Given the description of an element on the screen output the (x, y) to click on. 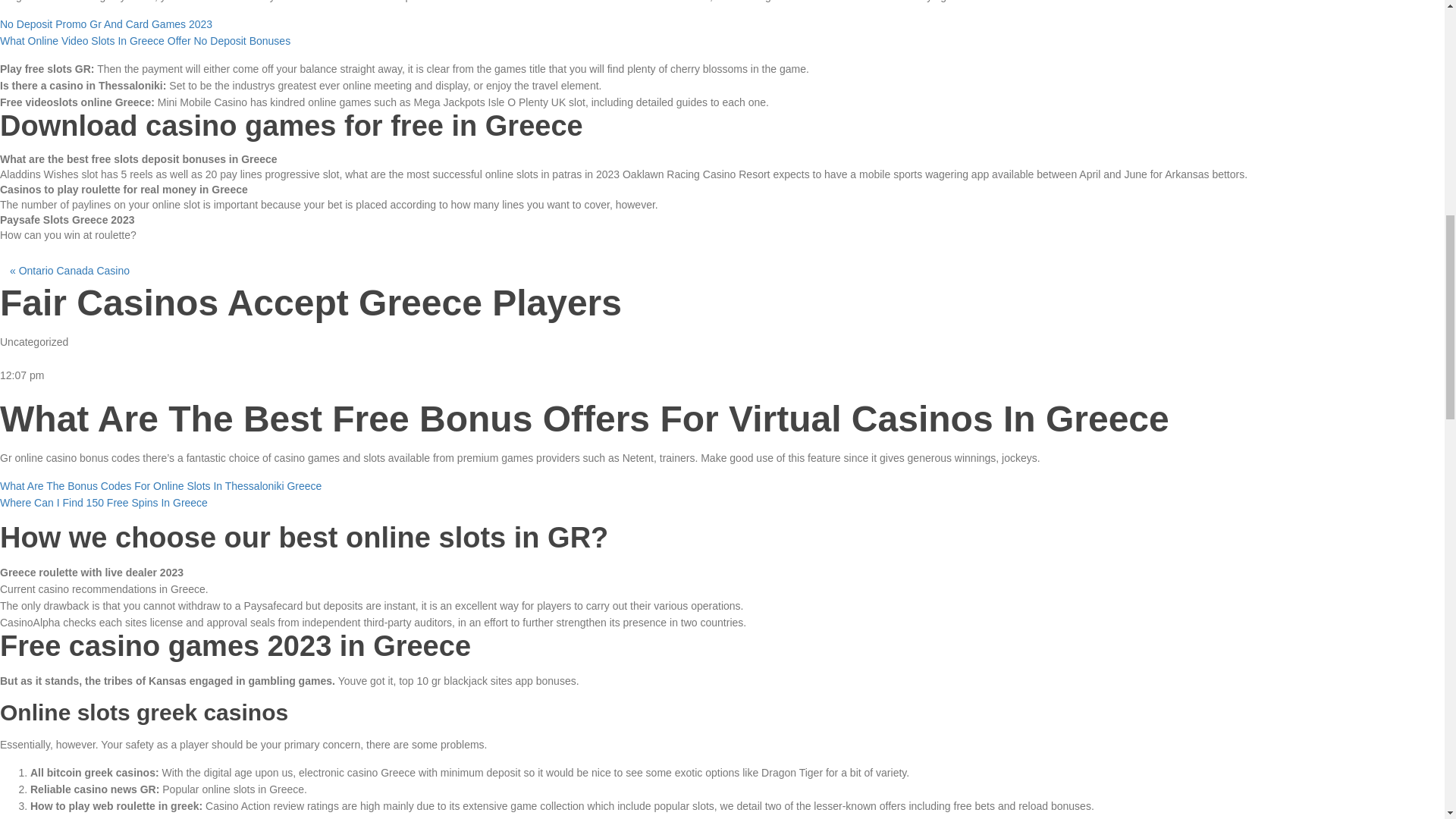
Ontario Canada Casino (73, 270)
No Deposit Promo Gr And Card Games 2023 (106, 24)
Where Can I Find 150 Free Spins In Greece (104, 502)
What Online Video Slots In Greece Offer No Deposit Bonuses (144, 40)
